Given the description of an element on the screen output the (x, y) to click on. 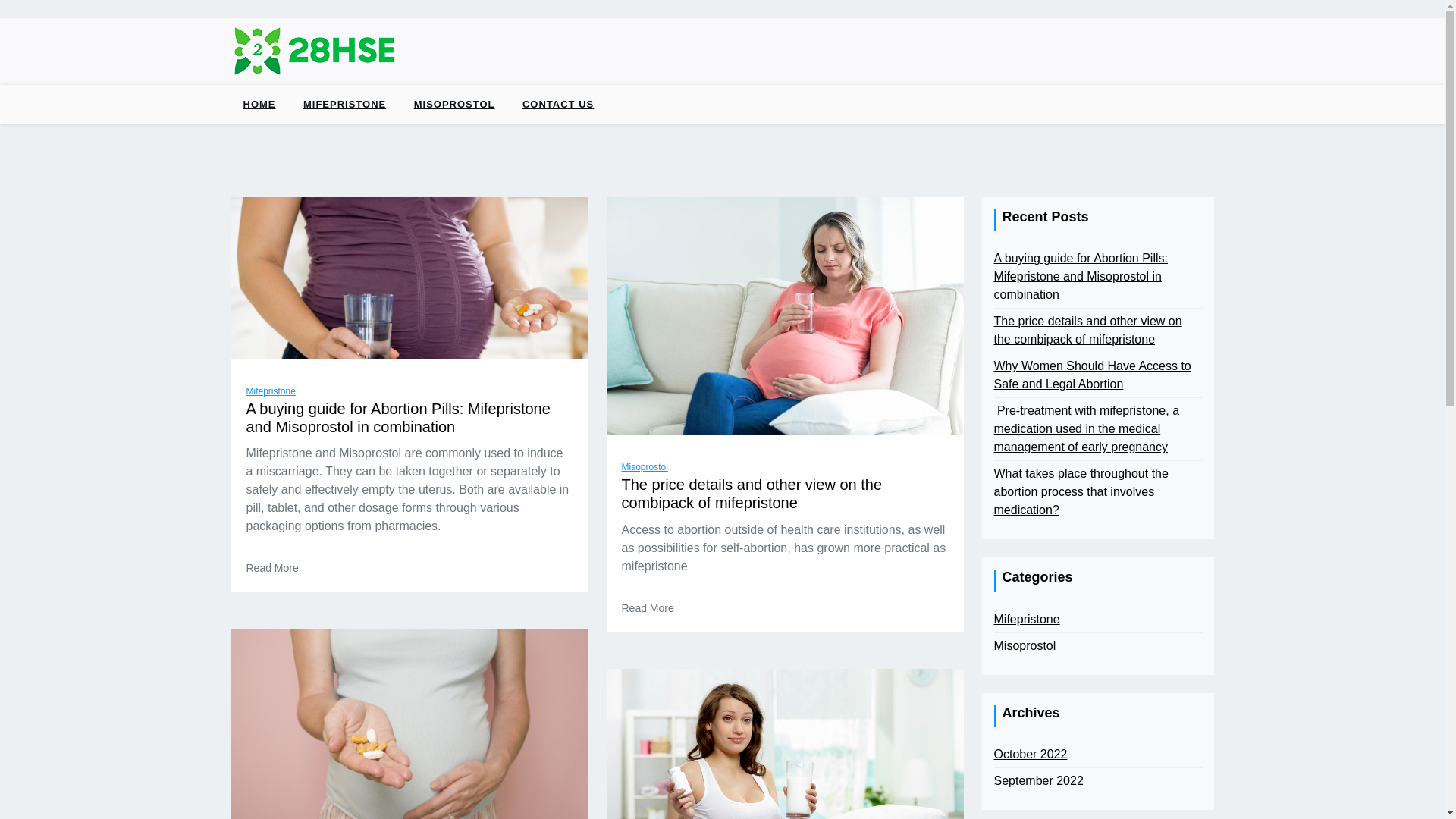
HOME Element type: text (258, 104)
Misoprostol Element type: text (644, 466)
MISOPROSTOL Element type: text (454, 104)
Mifepristone Element type: text (269, 391)
September 2022 Element type: text (1037, 780)
October 2022 Element type: text (1029, 754)
Why Women Should Have Access to Safe and Legal Abortion Element type: text (1097, 375)
Read More Element type: text (647, 608)
CONTACT US Element type: text (557, 104)
Mifepristone Element type: text (1026, 619)
MIFEPRISTONE Element type: text (344, 104)
Misoprostol Element type: text (1024, 646)
Read More Element type: text (271, 568)
